Given the description of an element on the screen output the (x, y) to click on. 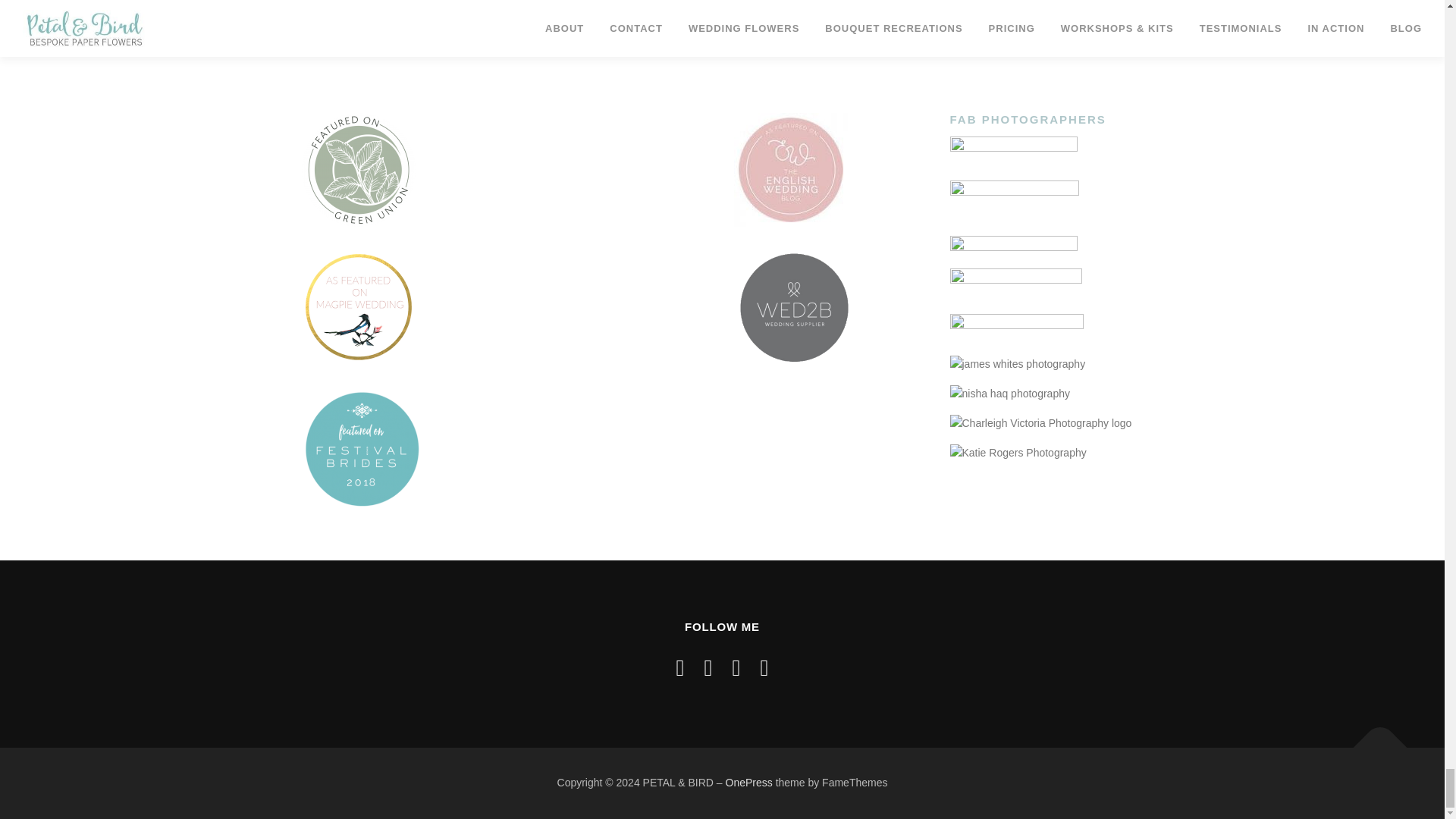
Back To Top (1372, 740)
Post Comment (363, 7)
